Given the description of an element on the screen output the (x, y) to click on. 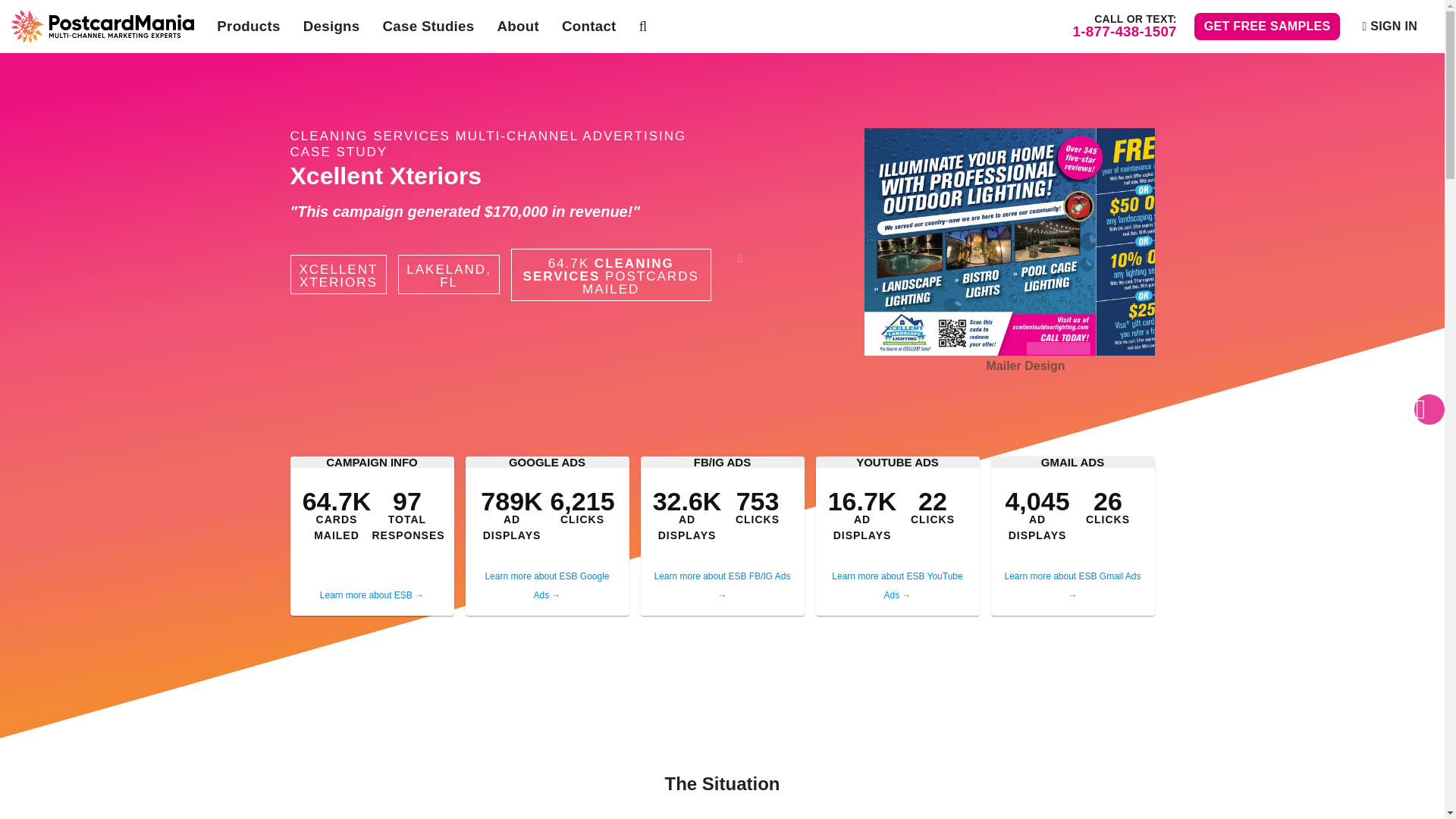
Case Studies (428, 26)
Designs (331, 26)
Products (248, 26)
